Given the description of an element on the screen output the (x, y) to click on. 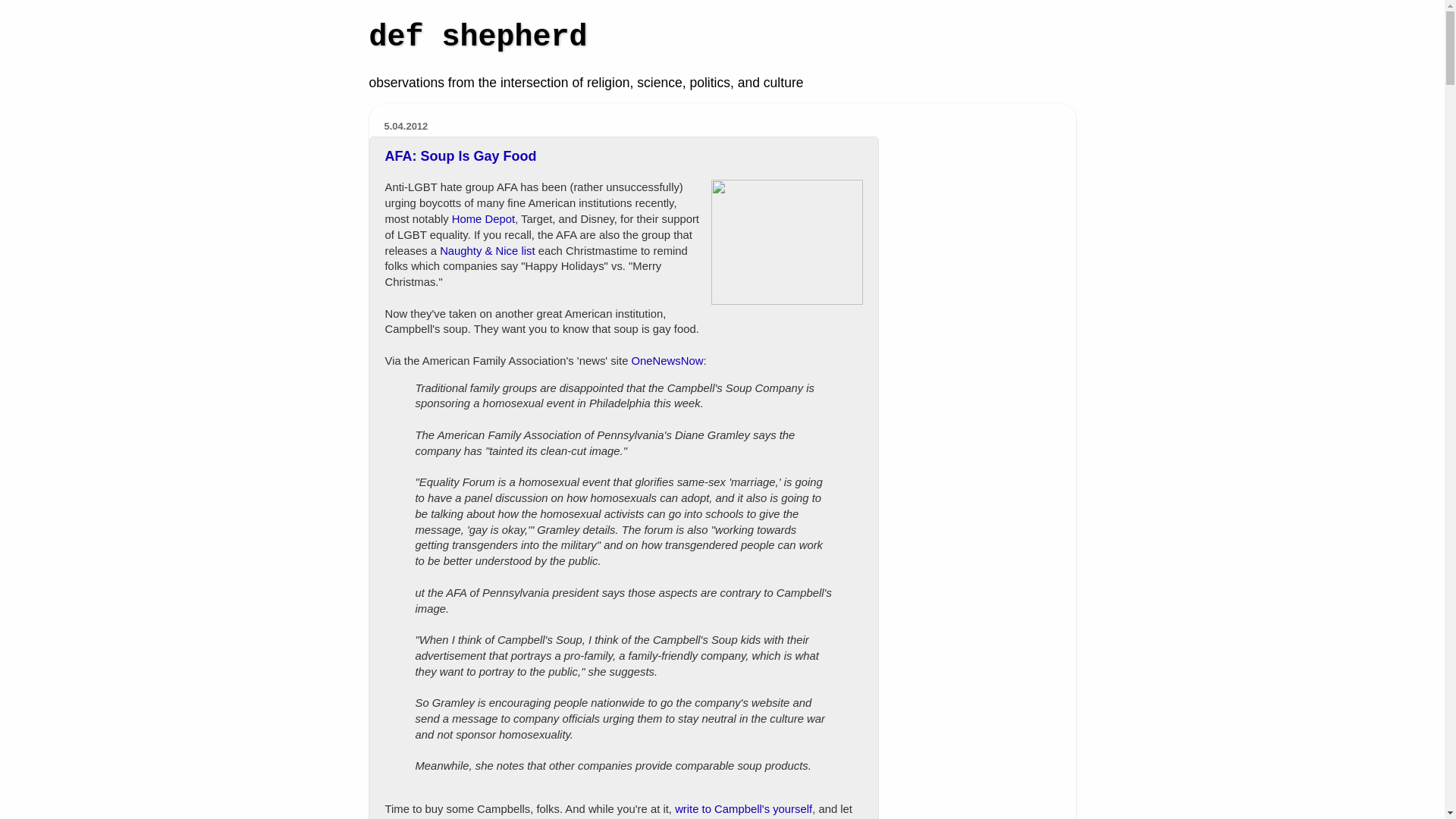
Home Depot (483, 218)
def shepherd (477, 37)
write to Campbell's yourself (743, 808)
OneNewsNow (667, 360)
AFA: Soup Is Gay Food (461, 155)
